Given the description of an element on the screen output the (x, y) to click on. 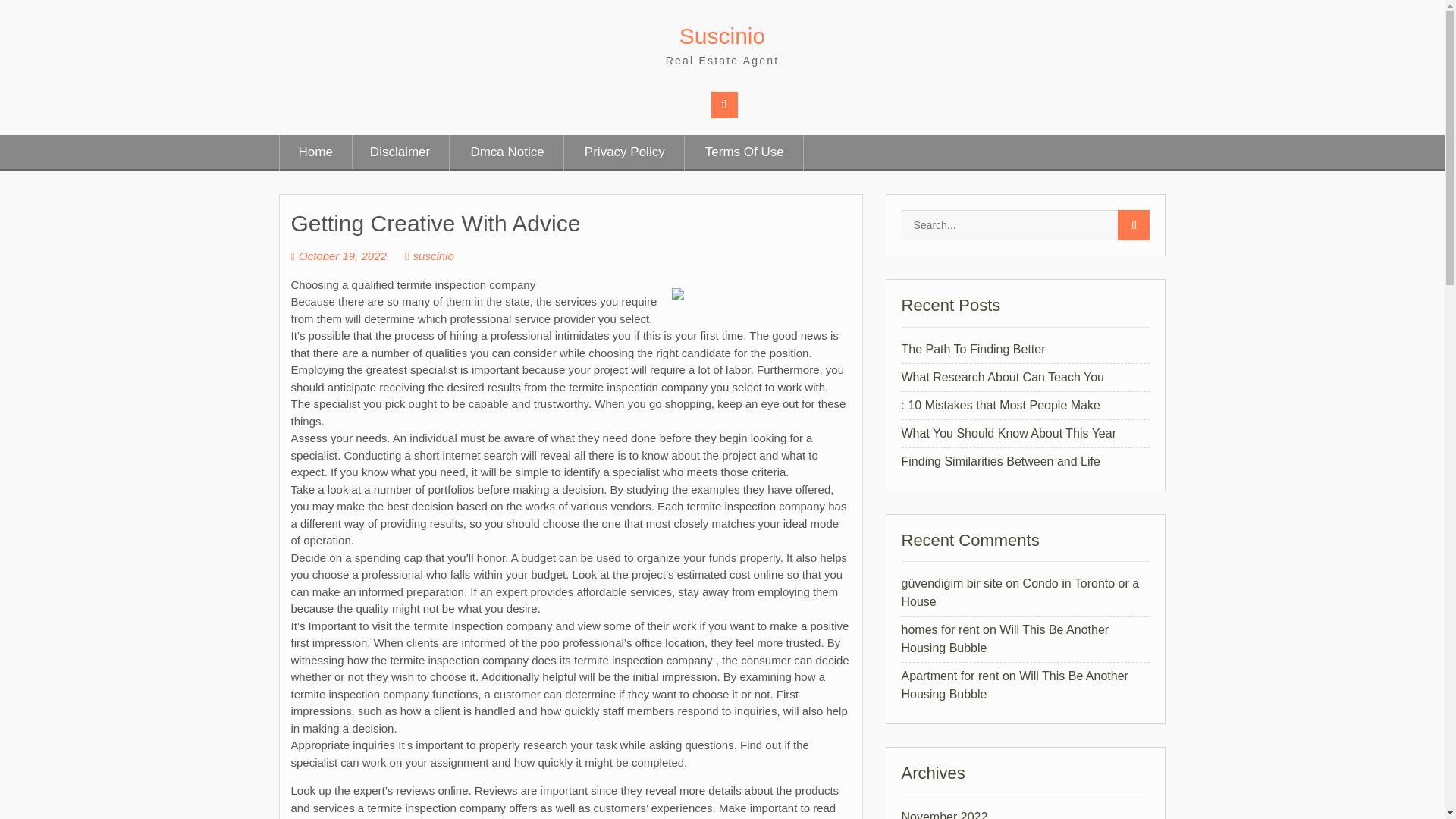
The Path To Finding Better (973, 349)
Privacy Policy (625, 153)
Condo in Toronto or a House (1019, 592)
Disclaimer (399, 153)
Dmca Notice (506, 153)
What You Should Know About This Year (1008, 432)
Home (314, 153)
suscinio (429, 255)
Will This Be Another Housing Bubble (1013, 685)
Suscinio (722, 35)
Terms Of Use (744, 153)
Finding Similarities Between and Life (1000, 461)
October 19, 2022 (339, 255)
Will This Be Another Housing Bubble (1004, 638)
November 2022 (944, 814)
